Given the description of an element on the screen output the (x, y) to click on. 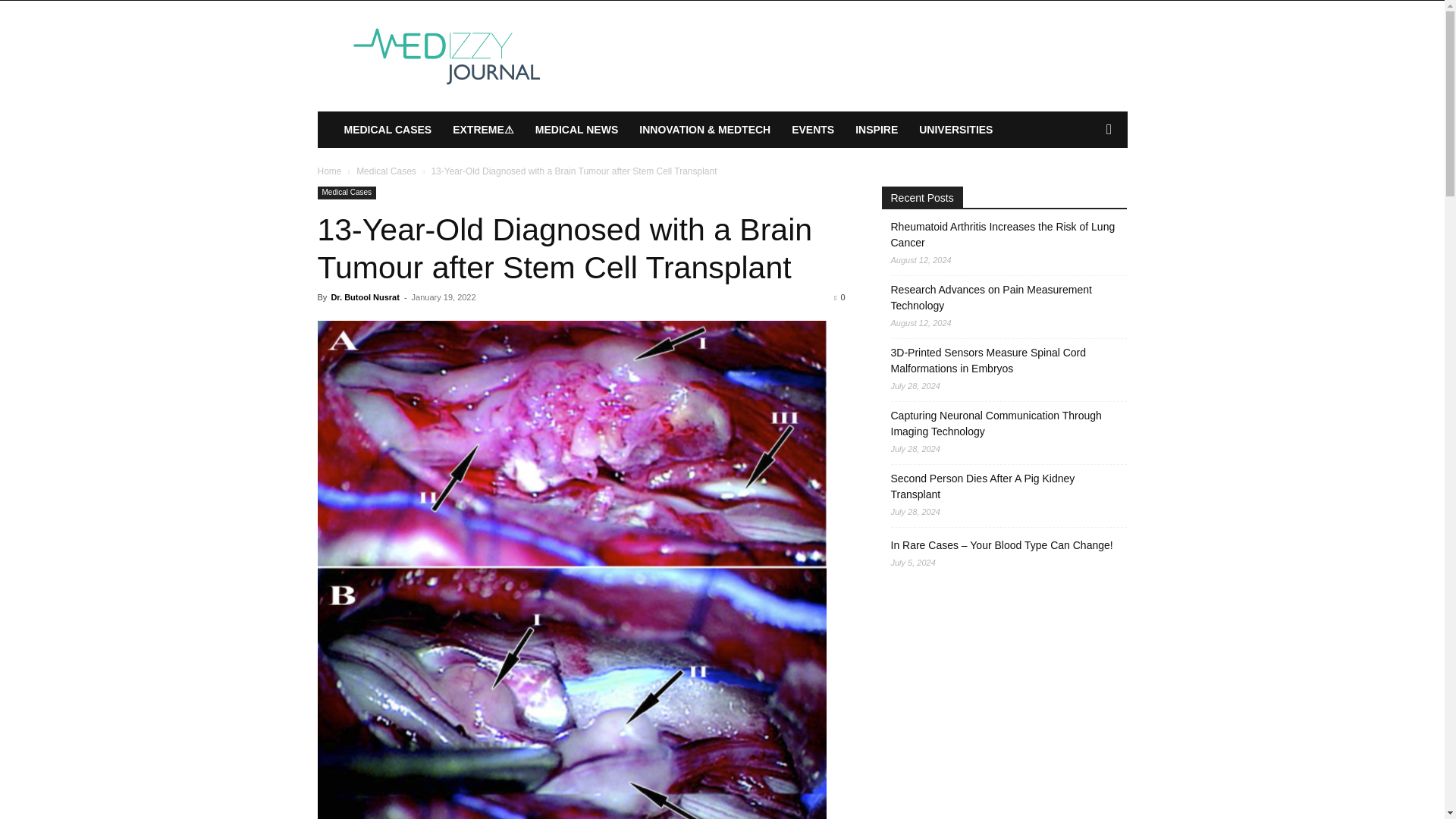
Medical Cases (386, 171)
Search (1085, 190)
Home (328, 171)
EVENTS (812, 129)
Medical Cases (346, 192)
MEDICAL CASES (387, 129)
0 (839, 297)
INSPIRE (876, 129)
View all posts in Medical Cases (386, 171)
